Given the description of an element on the screen output the (x, y) to click on. 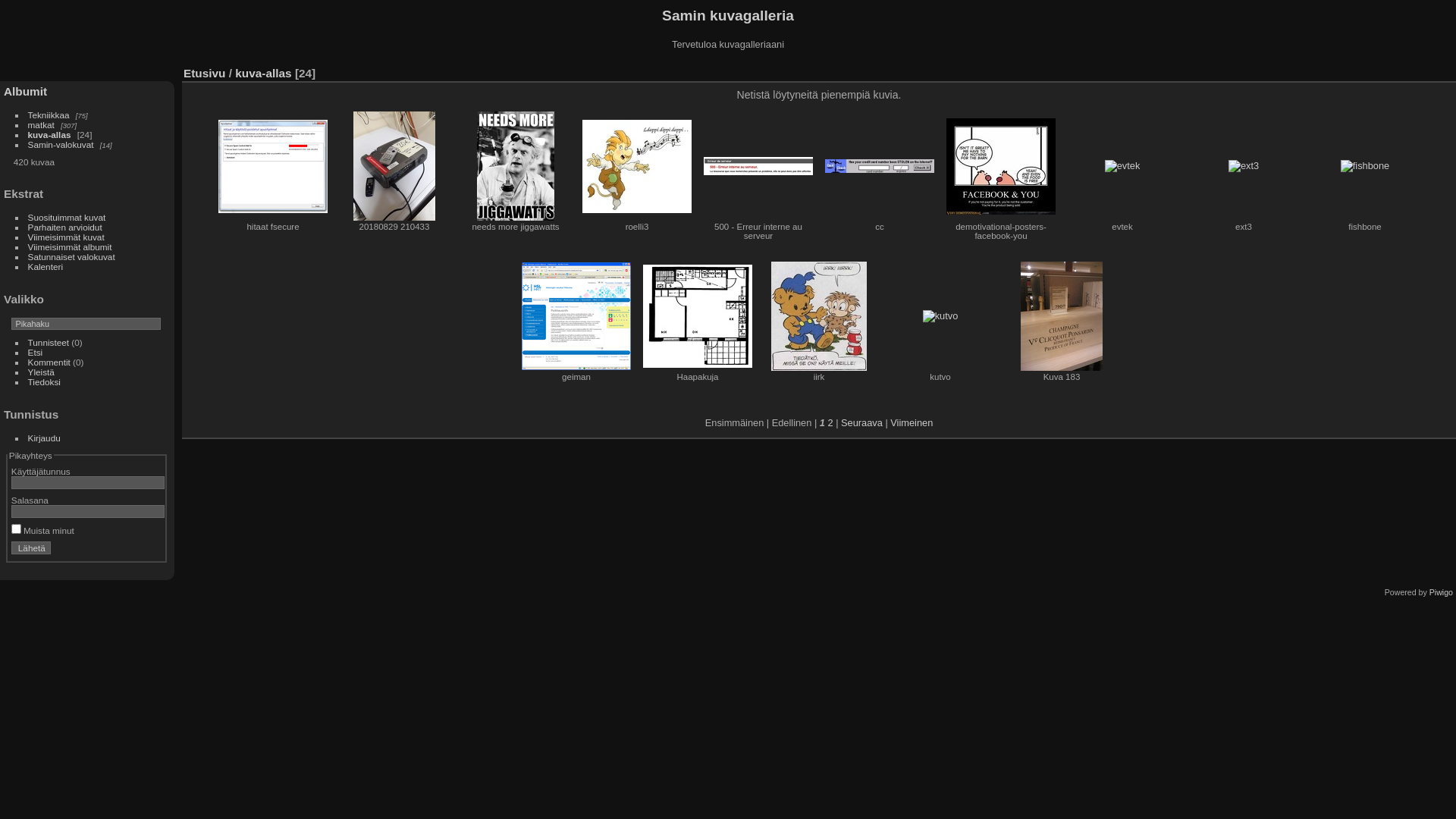
Kuva 183 (2880 vierailut) Element type: hover (1061, 315)
Kommentit Element type: text (49, 362)
demotivational-posters-facebook-you (3432 vierailut) Element type: hover (1000, 166)
geiman (2879 vierailut) Geiman-junat Element type: hover (575, 316)
Piwigo Element type: text (1440, 591)
Tunnisteet Element type: text (48, 342)
hitaat fsecure (5673 vierailut) Hidashan se olikin... Element type: hover (272, 166)
Unohditko salasanasi? Element type: hover (150, 551)
Satunnaiset valokuvat Element type: text (71, 256)
evtek (2825 vierailut) Element type: hover (1122, 166)
cc (4118 vierailut) Element type: hover (879, 165)
ext3 (2943 vierailut) Element type: hover (1243, 166)
Suosituimmat kuvat Element type: text (67, 217)
500 - Erreur interne au serveur (4362 vierailut) Element type: hover (757, 165)
Samin-valokuvat Element type: text (61, 144)
Albumit Element type: text (25, 90)
Kirjaudu Element type: text (44, 437)
Etsi Element type: text (35, 352)
iirk (2898 vierailut) Element type: hover (818, 315)
kuva-allas Element type: text (263, 72)
Viimeinen Element type: text (911, 422)
roelli3 (4489 vierailut) Element type: hover (636, 166)
  Element type: text (1444, 69)
fishbone (2822 vierailut) Element type: hover (1364, 166)
Kalenteri Element type: text (45, 266)
Kuvien koot Element type: hover (1354, 69)
Seuraava Element type: text (861, 422)
20180829 210433 (9594 vierailut) Element type: hover (394, 165)
needs more jiggawatts (4555 vierailut) Element type: hover (515, 165)
kuva-allas Element type: text (49, 134)
kutvo (2876 vierailut) Element type: hover (940, 316)
Tiedoksi Element type: text (44, 381)
Kieli Element type: hover (1444, 69)
2 Element type: text (829, 422)
matkat Element type: text (41, 124)
Parhaiten arvioidut Element type: text (65, 227)
Tekniikkaa Element type: text (48, 114)
Etusivu Element type: text (204, 72)
Haapakuja (2764 vierailut) Element type: hover (697, 315)
diaesitys Element type: hover (1376, 69)
